Given the description of an element on the screen output the (x, y) to click on. 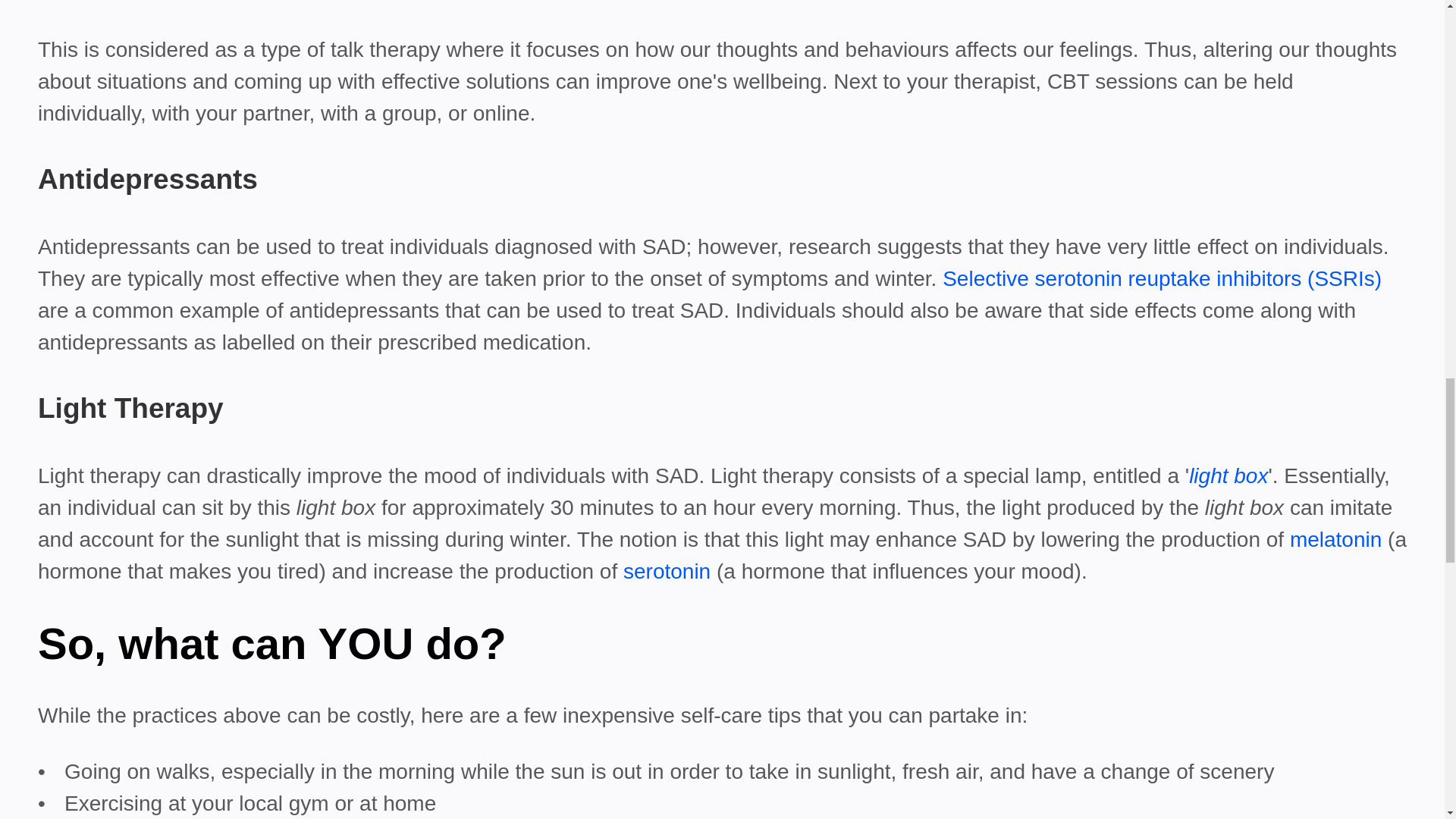
light box (1228, 475)
serotonin (666, 571)
melatonin (1335, 539)
